Given the description of an element on the screen output the (x, y) to click on. 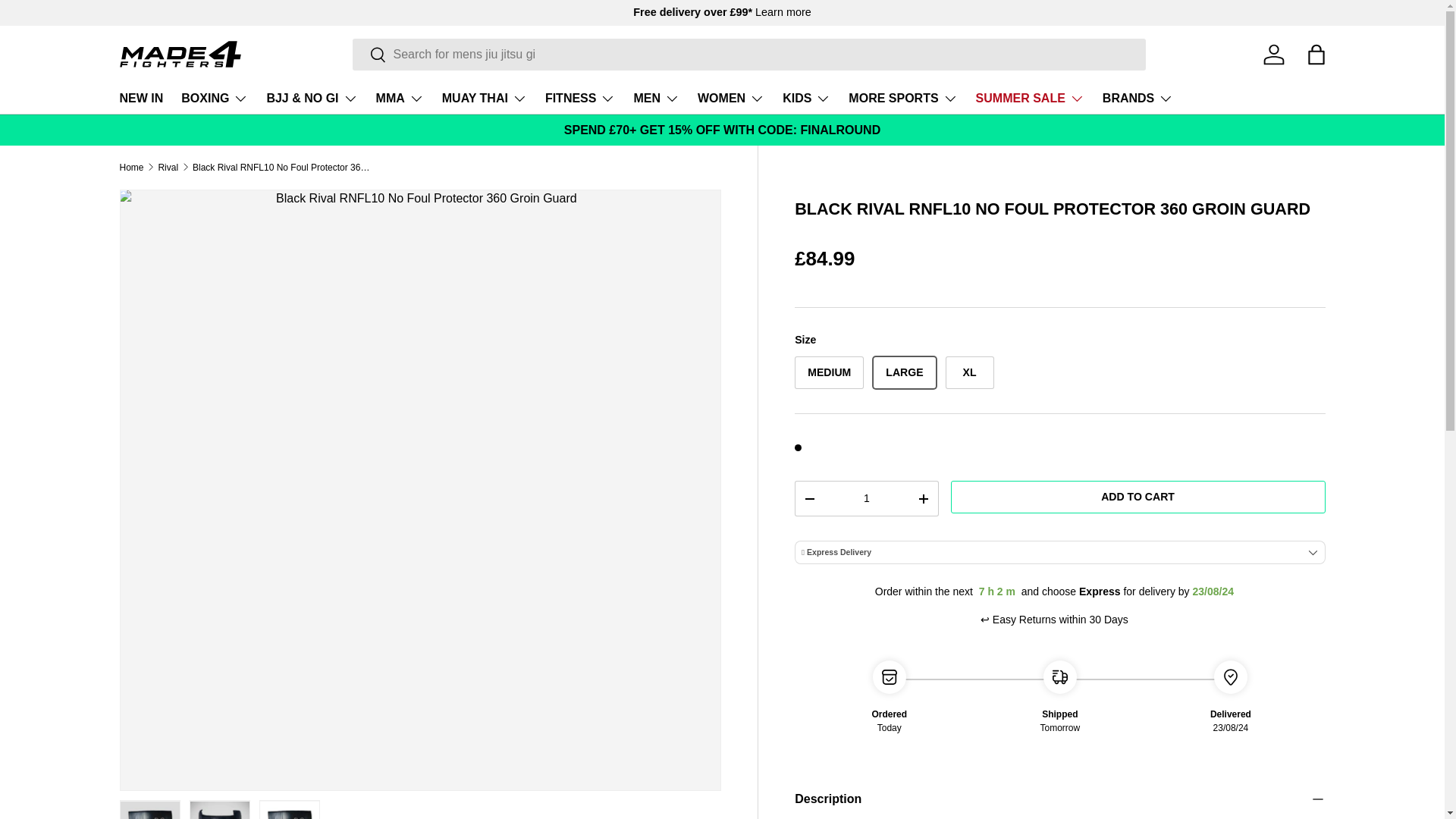
Bag (1316, 54)
1 (866, 498)
BOXING (213, 98)
Learn more (782, 11)
SKIP TO CONTENT (68, 21)
United Kingdom (782, 11)
Log in (1273, 54)
Search (368, 55)
